Given the description of an element on the screen output the (x, y) to click on. 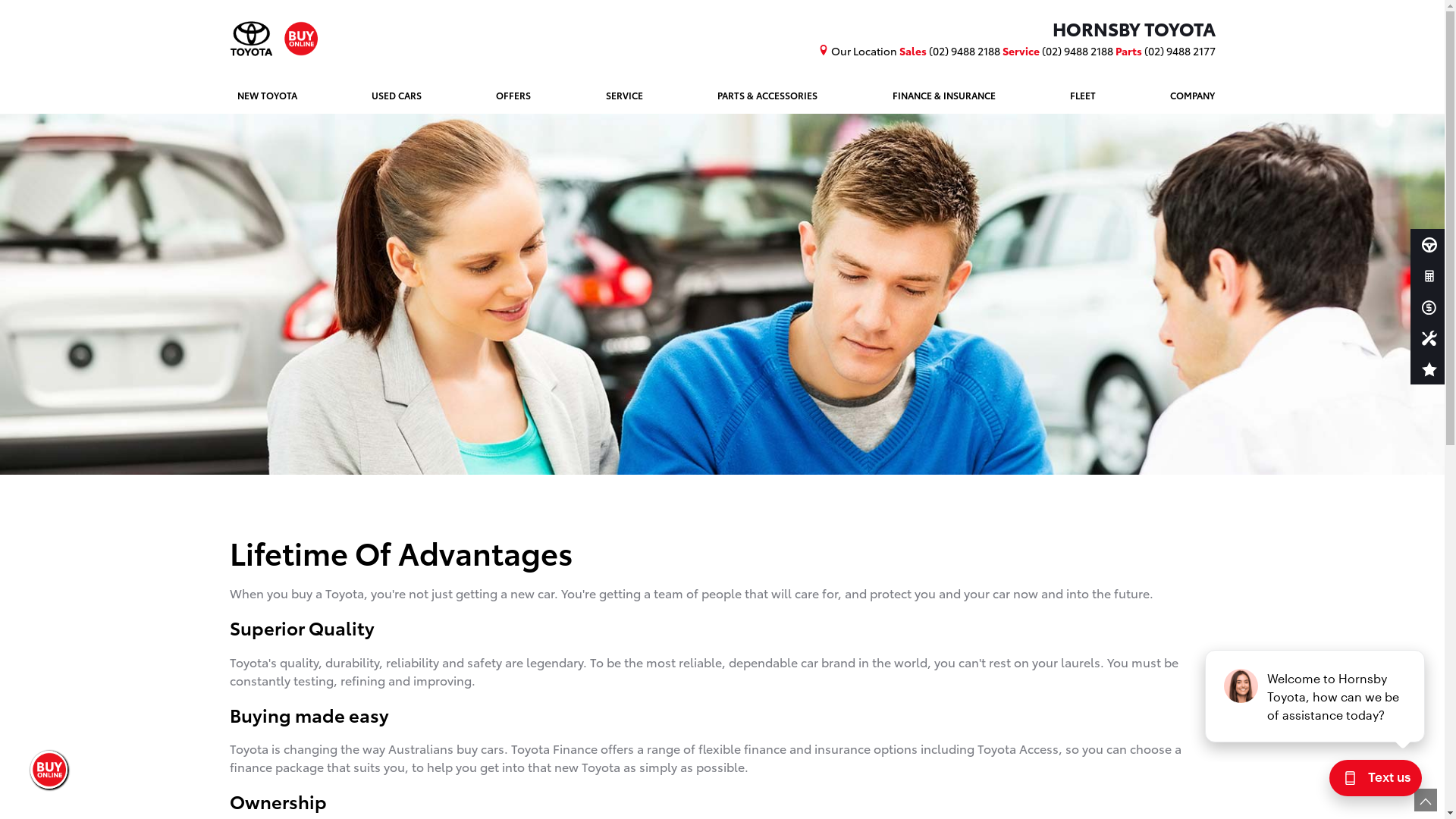
SERVICE Element type: text (624, 95)
Our Location Element type: text (857, 50)
PARTS & ACCESSORIES Element type: text (767, 95)
FINANCE & INSURANCE Element type: text (943, 95)
USED CARS Element type: text (396, 95)
NEW TOYOTA Element type: text (266, 95)
OFFERS Element type: text (513, 95)
Service (02) 9488 2188 Element type: text (1058, 50)
Parts (02) 9488 2177 Element type: text (1164, 50)
Sales (02) 9488 2188 Element type: text (950, 50)
COMPANY Element type: text (1188, 95)
podium webchat widget prompt Element type: hover (1315, 696)
FLEET Element type: text (1082, 95)
